Given the description of an element on the screen output the (x, y) to click on. 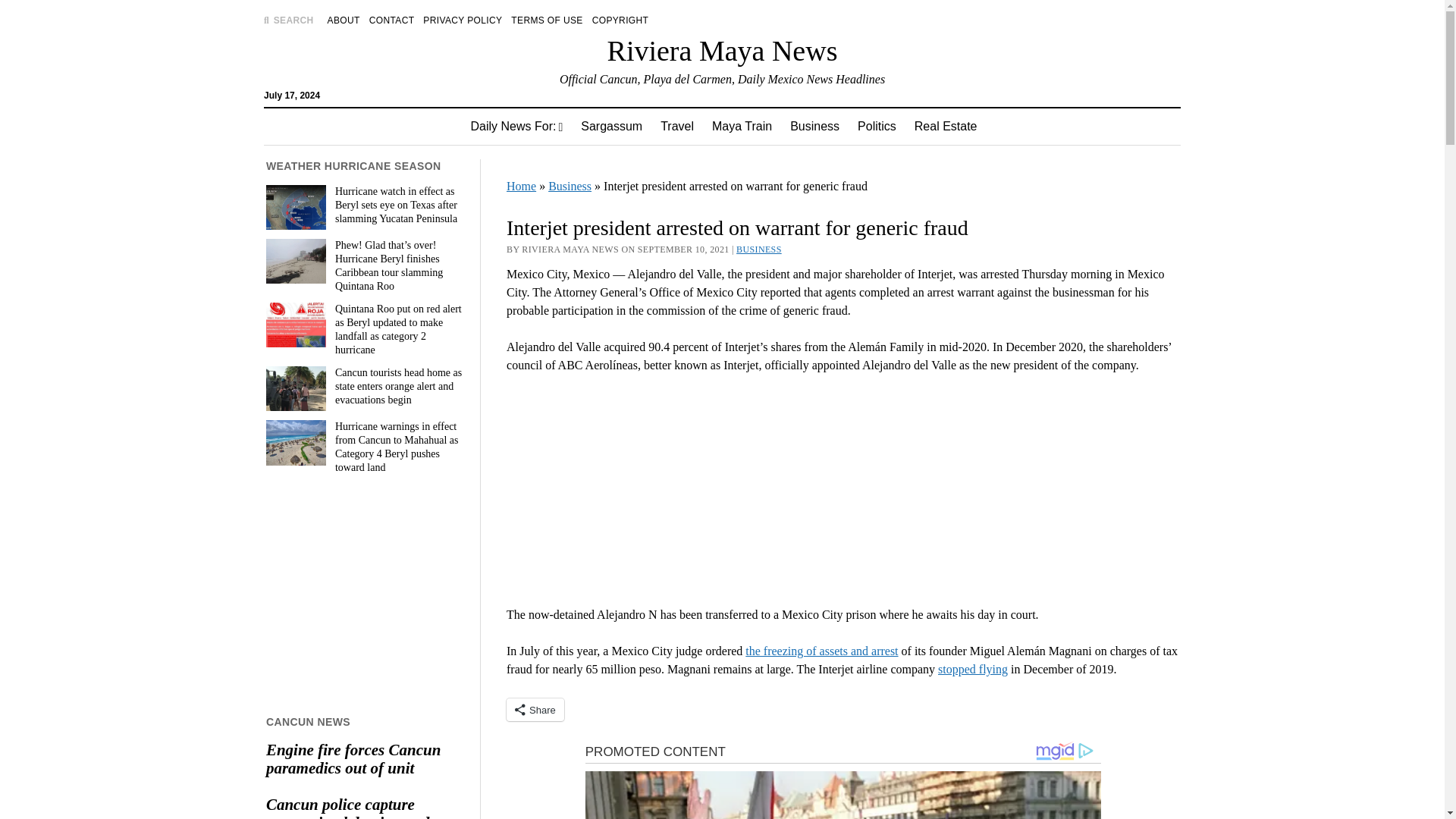
Travel (676, 126)
SEARCH (288, 20)
TERMS OF USE (546, 20)
Maya Train (741, 126)
View all posts in Business (758, 249)
Sargassum (611, 126)
CONTACT (391, 20)
PRIVACY POLICY (462, 20)
Search (945, 129)
Riviera Maya News (722, 50)
Business (814, 126)
COPYRIGHT (620, 20)
Daily News For: (516, 126)
ABOUT (343, 20)
